Given the description of an element on the screen output the (x, y) to click on. 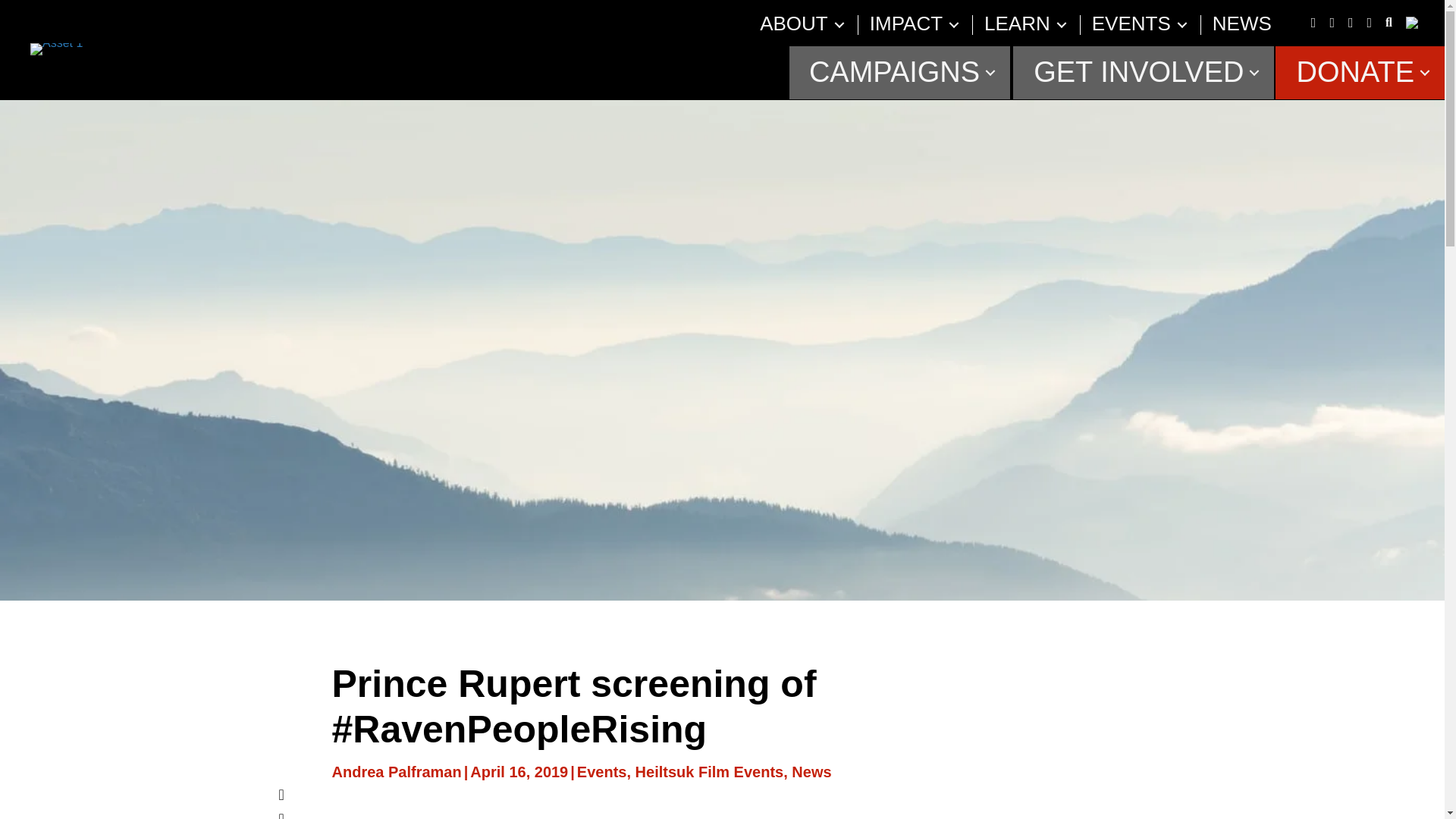
CAMPAIGNS (899, 72)
Asset 1 (56, 49)
IMPACT (906, 24)
EVENTS (1131, 24)
ABOUT (794, 24)
NEWS (1241, 24)
LEARN (1016, 24)
